Given the description of an element on the screen output the (x, y) to click on. 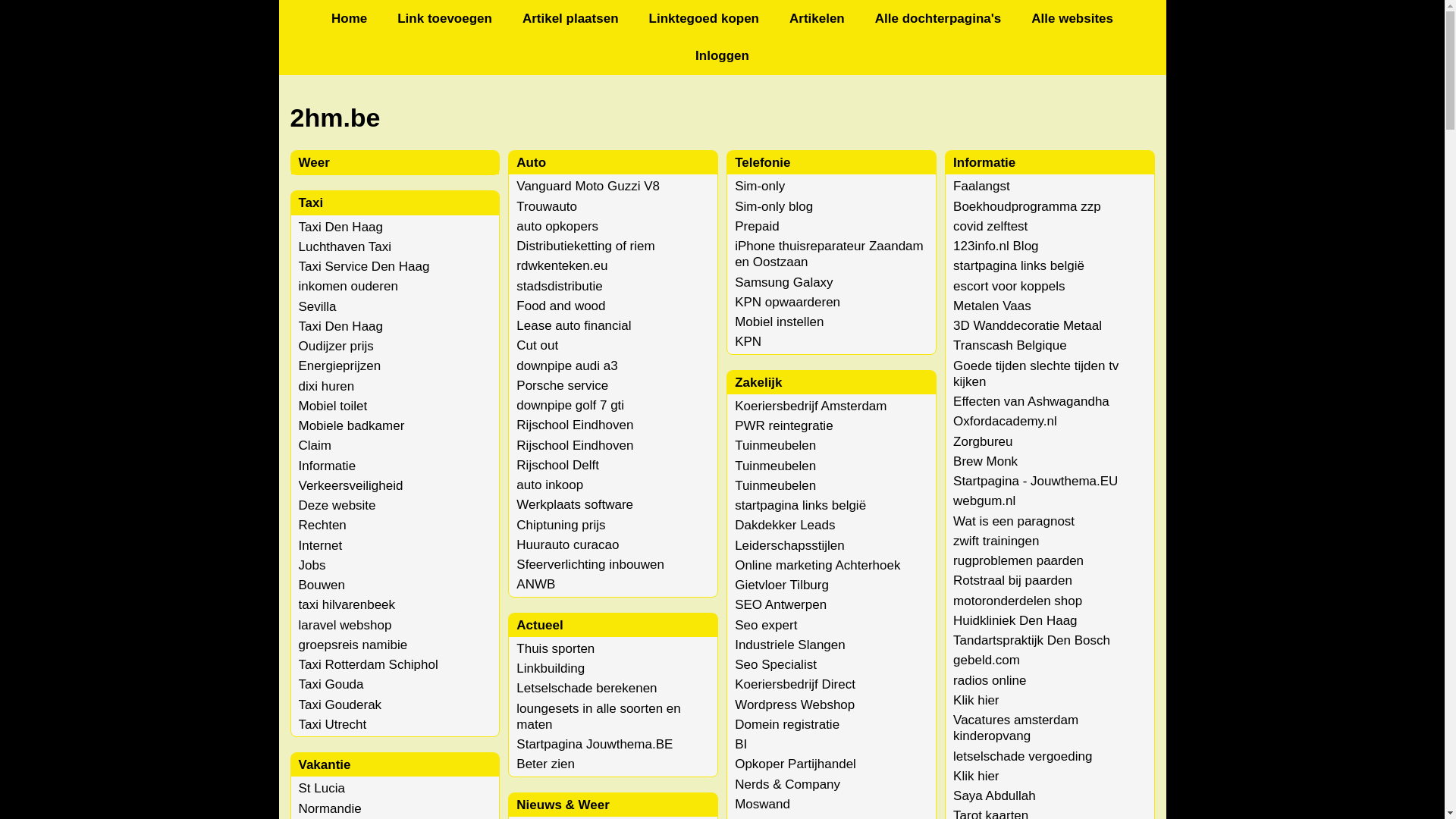
Tuinmeubelen Element type: text (774, 445)
Telefonie Element type: text (762, 162)
Actueel Element type: text (539, 625)
Koeriersbedrijf Direct Element type: text (794, 684)
loungesets in alle soorten en maten Element type: text (598, 716)
Letselschade berekenen Element type: text (586, 687)
Auto Element type: text (531, 162)
Sim-only blog Element type: text (773, 206)
Tuinmeubelen Element type: text (774, 485)
3D Wanddecoratie Metaal Element type: text (1027, 325)
ANWB Element type: text (535, 584)
Samsung Galaxy Element type: text (783, 282)
covid zelftest Element type: text (990, 226)
Domein registratie Element type: text (786, 724)
Online marketing Achterhoek Element type: text (817, 565)
KPN opwaarderen Element type: text (787, 301)
downpipe audi a3 Element type: text (566, 365)
Verkeersveiligheid Element type: text (350, 485)
Chiptuning prijs Element type: text (560, 524)
Taxi Element type: text (310, 202)
Artikel plaatsen Element type: text (570, 18)
Gietvloer Tilburg Element type: text (781, 584)
Zorgbureu Element type: text (982, 441)
Trouwauto Element type: text (546, 206)
Koeriersbedrijf Amsterdam Element type: text (810, 405)
Lease auto financial Element type: text (573, 325)
PWR reintegratie Element type: text (783, 425)
Seo Specialist Element type: text (775, 664)
Link toevoegen Element type: text (444, 18)
Linkbuilding Element type: text (550, 668)
Prepaid Element type: text (756, 226)
Huurauto curacao Element type: text (567, 544)
gebeld.com Element type: text (986, 659)
Seo expert Element type: text (765, 625)
iPhone thuisreparateur Zaandam en Oostzaan Element type: text (828, 253)
Startpagina - Jouwthema.EU Element type: text (1035, 480)
Dakdekker Leads Element type: text (784, 524)
dixi huren Element type: text (326, 386)
Saya Abdullah Element type: text (994, 795)
Metalen Vaas Element type: text (992, 305)
123info.nl Blog Element type: text (995, 245)
St Lucia Element type: text (321, 788)
Mobiele badkamer Element type: text (351, 425)
rugproblemen paarden Element type: text (1018, 560)
Vacatures amsterdam kinderopvang Element type: text (1015, 727)
radios online Element type: text (989, 680)
Vanguard Moto Guzzi V8 Element type: text (587, 185)
zwift trainingen Element type: text (995, 540)
Alle dochterpagina's Element type: text (937, 18)
Taxi Gouderak Element type: text (340, 704)
taxi hilvarenbeek Element type: text (346, 604)
Taxi Rotterdam Schiphol Element type: text (368, 664)
Sevilla Element type: text (317, 306)
webgum.nl Element type: text (984, 500)
Thuis sporten Element type: text (555, 648)
Deze website Element type: text (337, 505)
Wat is een paragnost Element type: text (1013, 521)
laravel webshop Element type: text (345, 625)
stadsdistributie Element type: text (559, 286)
Faalangst Element type: text (981, 185)
downpipe golf 7 gti Element type: text (570, 405)
Informatie Element type: text (327, 465)
letselschade vergoeding Element type: text (1022, 756)
auto opkopers Element type: text (557, 226)
Inloggen Element type: text (722, 55)
inkomen ouderen Element type: text (348, 286)
Oxfordacademy.nl Element type: text (1005, 421)
Weer Element type: text (313, 162)
Vakantie Element type: text (324, 764)
Bouwen Element type: text (321, 584)
Taxi Den Haag Element type: text (340, 226)
Wordpress Webshop Element type: text (794, 704)
Brew Monk Element type: text (985, 461)
Rijschool Eindhoven Element type: text (574, 424)
Boekhoudprogramma zzp Element type: text (1027, 206)
Internet Element type: text (320, 545)
Industriele Slangen Element type: text (789, 644)
groepsreis namibie Element type: text (352, 644)
Sim-only Element type: text (759, 185)
Mobiel toilet Element type: text (332, 405)
Porsche service Element type: text (562, 385)
Taxi Gouda Element type: text (331, 684)
Goede tijden slechte tijden tv kijken Element type: text (1035, 373)
Rechten Element type: text (322, 524)
Jobs Element type: text (312, 565)
Oudijzer prijs Element type: text (335, 345)
Tuinmeubelen Element type: text (774, 465)
Moswand Element type: text (762, 804)
Nieuws & Weer Element type: text (562, 804)
Leiderschapsstijlen Element type: text (789, 545)
Taxi Utrecht Element type: text (332, 724)
Taxi Service Den Haag Element type: text (363, 266)
Werkplaats software Element type: text (574, 504)
Rotstraal bij paarden Element type: text (1012, 580)
Beter zien Element type: text (545, 763)
Normandie Element type: text (329, 808)
Food and wood Element type: text (560, 305)
Claim Element type: text (314, 445)
Opkoper Partijhandel Element type: text (795, 763)
Tandartspraktijk Den Bosch Element type: text (1031, 640)
Klik hier Element type: text (975, 700)
SEO Antwerpen Element type: text (780, 604)
Transcash Belgique Element type: text (1009, 345)
Rijschool Delft Element type: text (557, 465)
Home Element type: text (349, 18)
Artikelen Element type: text (816, 18)
Informatie Element type: text (984, 162)
Effecten van Ashwagandha Element type: text (1031, 401)
Linktegoed kopen Element type: text (703, 18)
motoronderdelen shop Element type: text (1017, 600)
Alle websites Element type: text (1072, 18)
Rijschool Eindhoven Element type: text (574, 445)
auto inkoop Element type: text (549, 484)
2hm.be Element type: text (721, 117)
BI Element type: text (740, 744)
escort voor koppels Element type: text (1008, 286)
Zakelijk Element type: text (757, 382)
Distributieketting of riem Element type: text (585, 245)
Startpagina Jouwthema.BE Element type: text (594, 744)
KPN Element type: text (747, 341)
Huidkliniek Den Haag Element type: text (1014, 620)
rdwkenteken.eu Element type: text (561, 265)
Nerds & Company Element type: text (787, 784)
Taxi Den Haag Element type: text (340, 326)
Energieprijzen Element type: text (339, 365)
Sfeerverlichting inbouwen Element type: text (590, 564)
Cut out Element type: text (537, 345)
Mobiel instellen Element type: text (778, 321)
Klik hier Element type: text (975, 775)
Luchthaven Taxi Element type: text (345, 246)
